Given the description of an element on the screen output the (x, y) to click on. 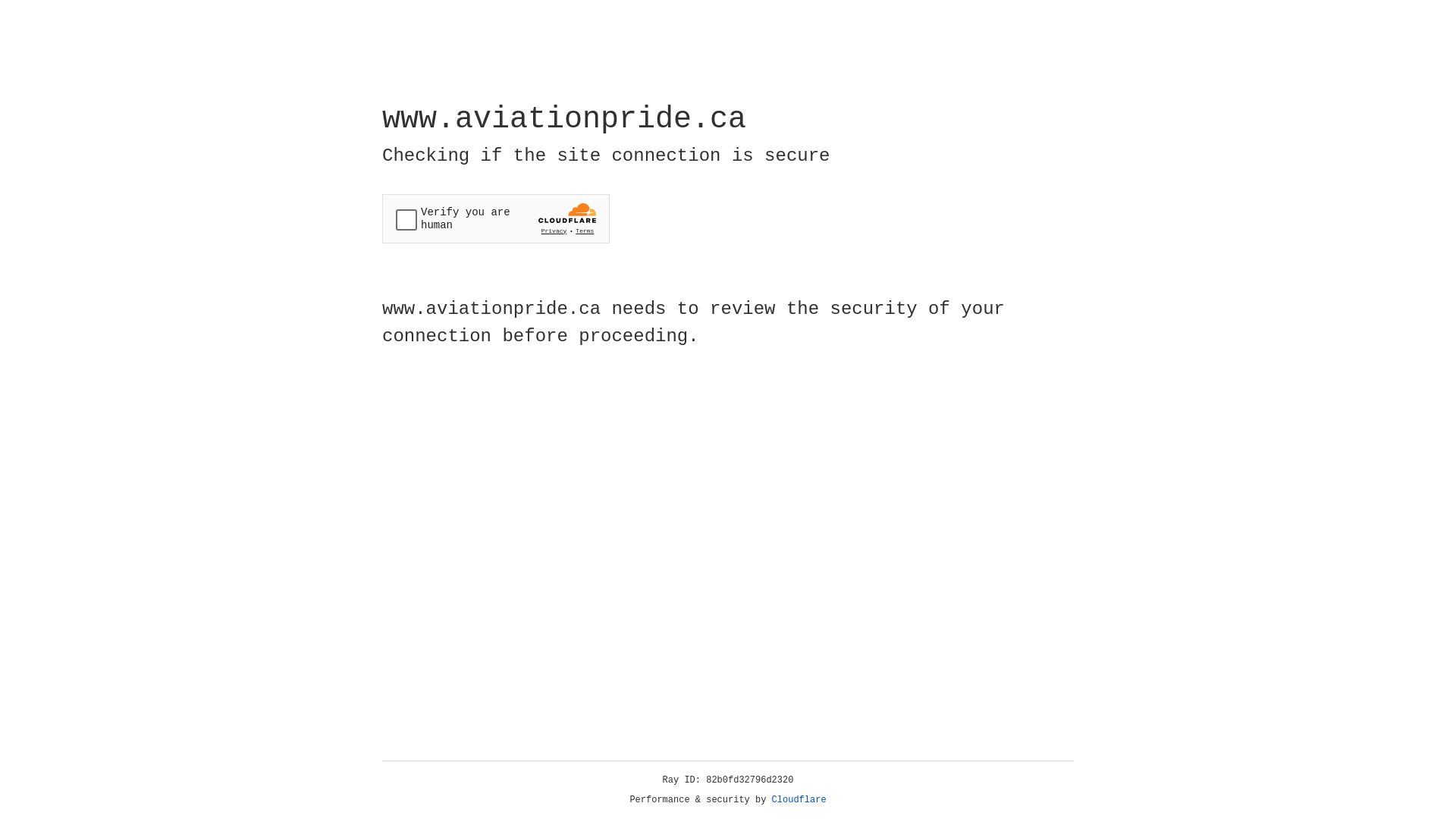
Cloudflare Element type: text (798, 799)
Widget containing a Cloudflare security challenge Element type: hover (495, 218)
